Given the description of an element on the screen output the (x, y) to click on. 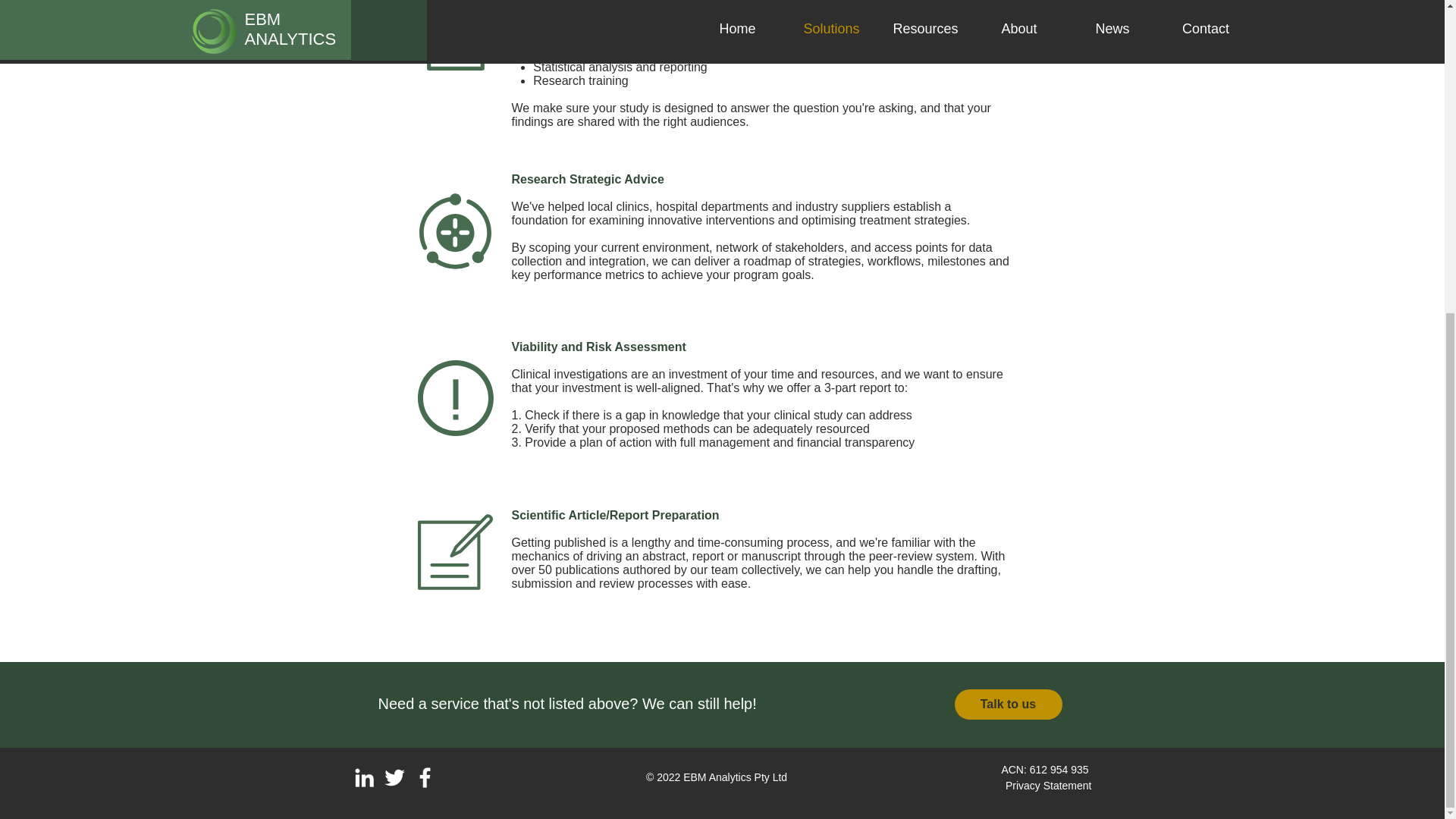
ACN: 612 954 935  (1045, 769)
Privacy Statement (1049, 785)
Talk to us (1007, 704)
